Given the description of an element on the screen output the (x, y) to click on. 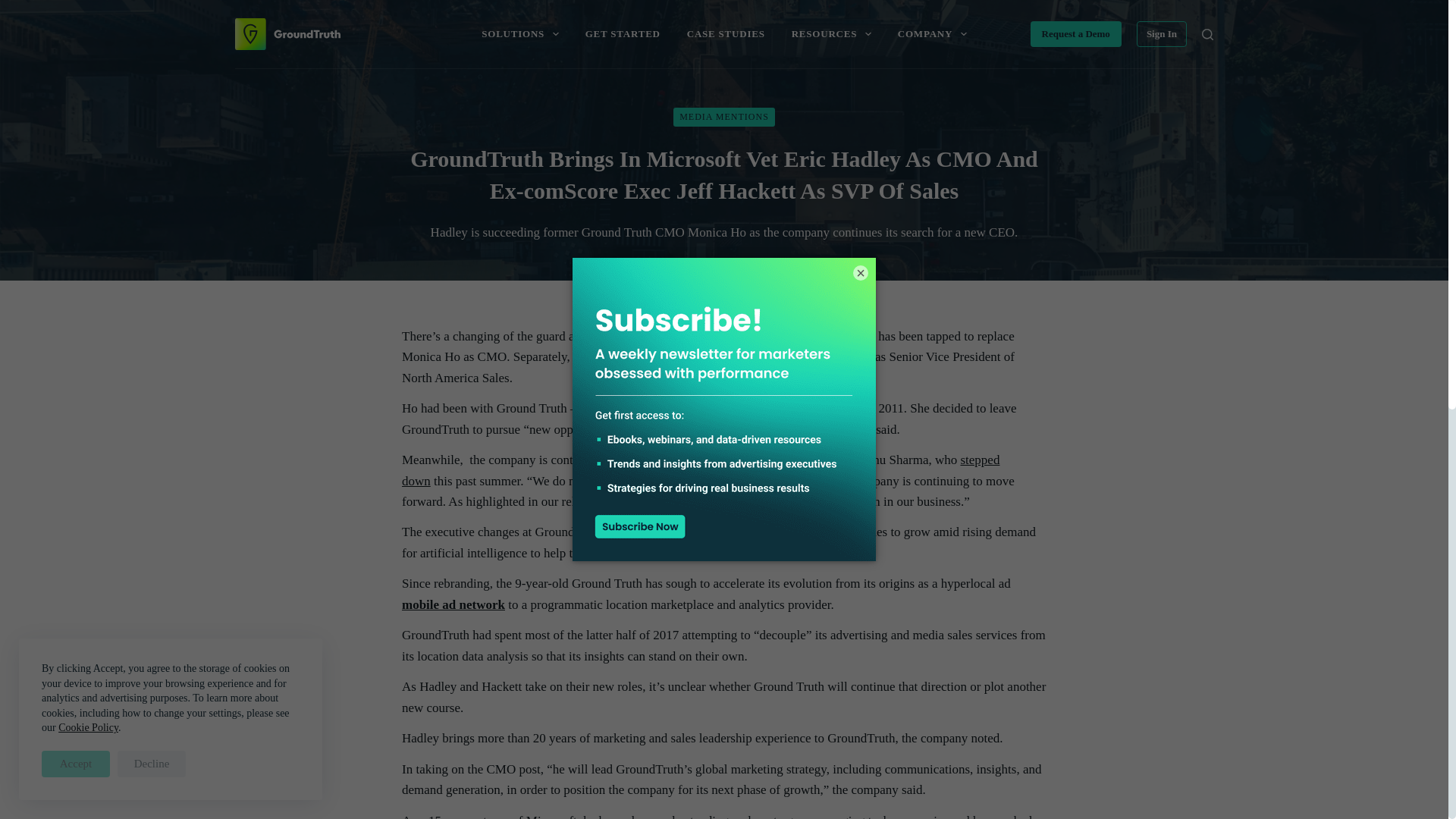
Skip to content (15, 7)
